Given the description of an element on the screen output the (x, y) to click on. 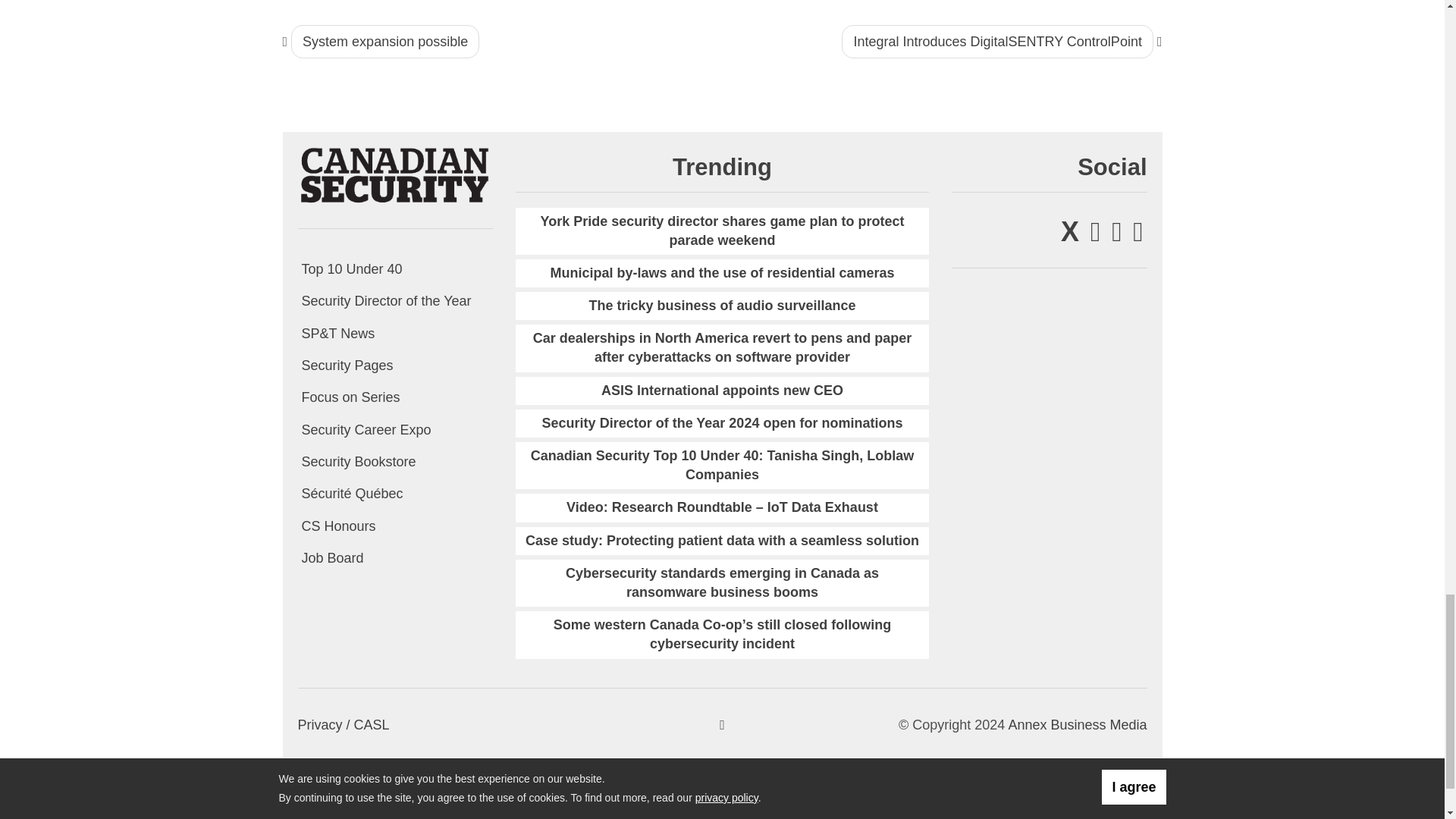
Annex Business Media (1077, 724)
scroll to top (722, 724)
Canadian Security Magazine (395, 174)
